Given the description of an element on the screen output the (x, y) to click on. 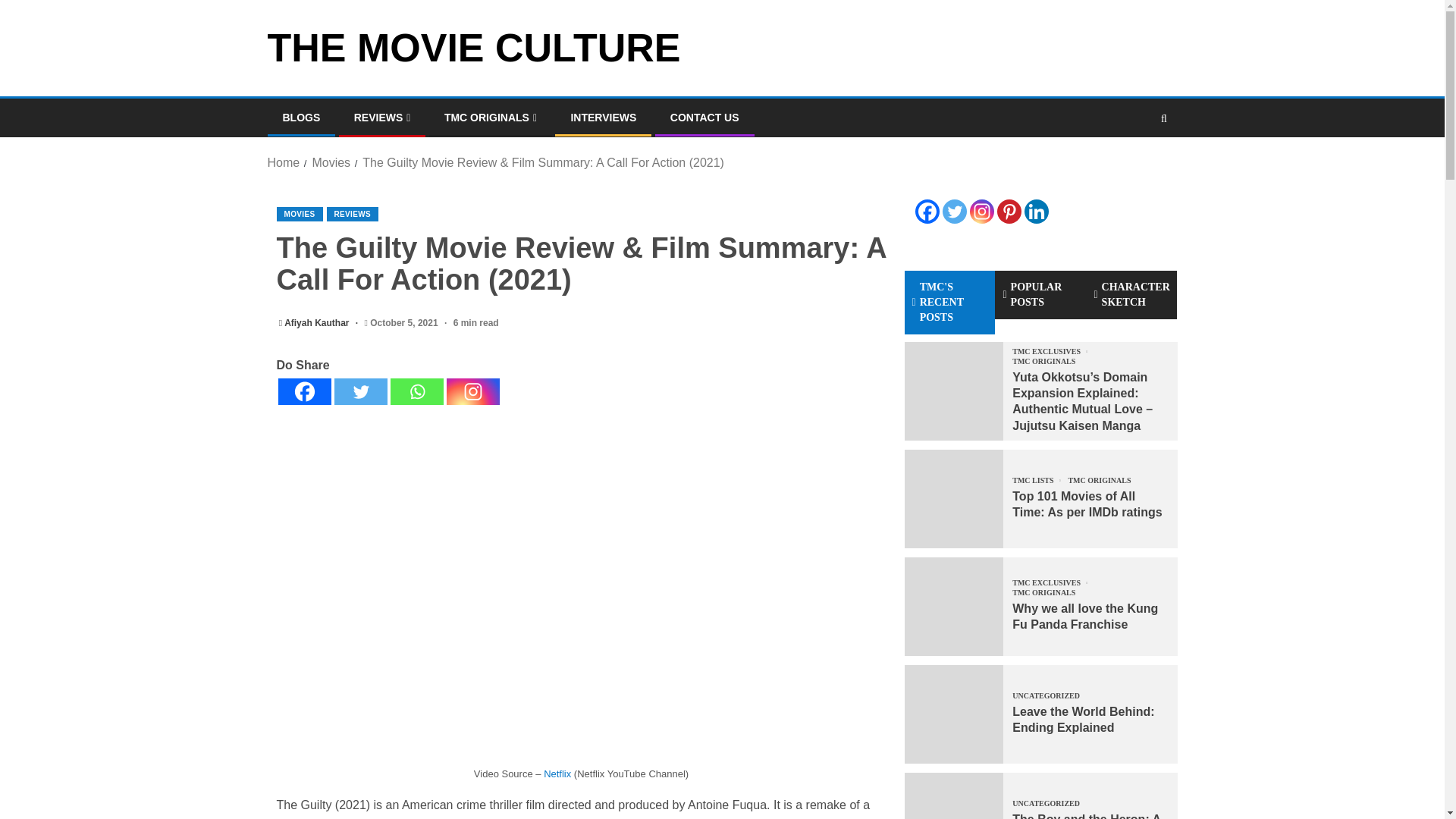
POPULAR POSTS (1040, 295)
Pinterest (1007, 211)
MOVIES (298, 214)
CONTACT US (704, 117)
Afiyah Kauthar (317, 322)
REVIEWS (352, 214)
INTERVIEWS (603, 117)
CHARACTER SKETCH (1131, 295)
Facebook (926, 211)
Instagram (472, 391)
